Given the description of an element on the screen output the (x, y) to click on. 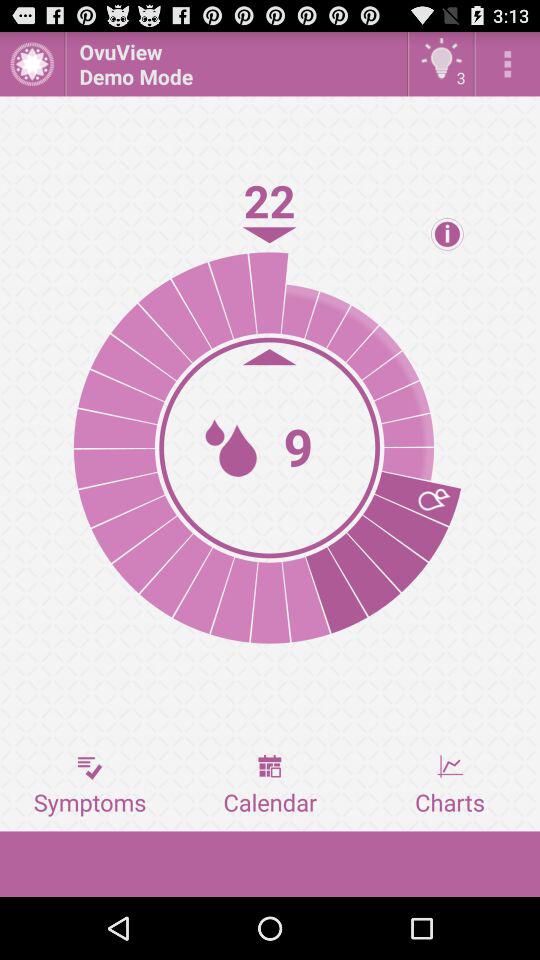
open item next to the calendar item (450, 785)
